Given the description of an element on the screen output the (x, y) to click on. 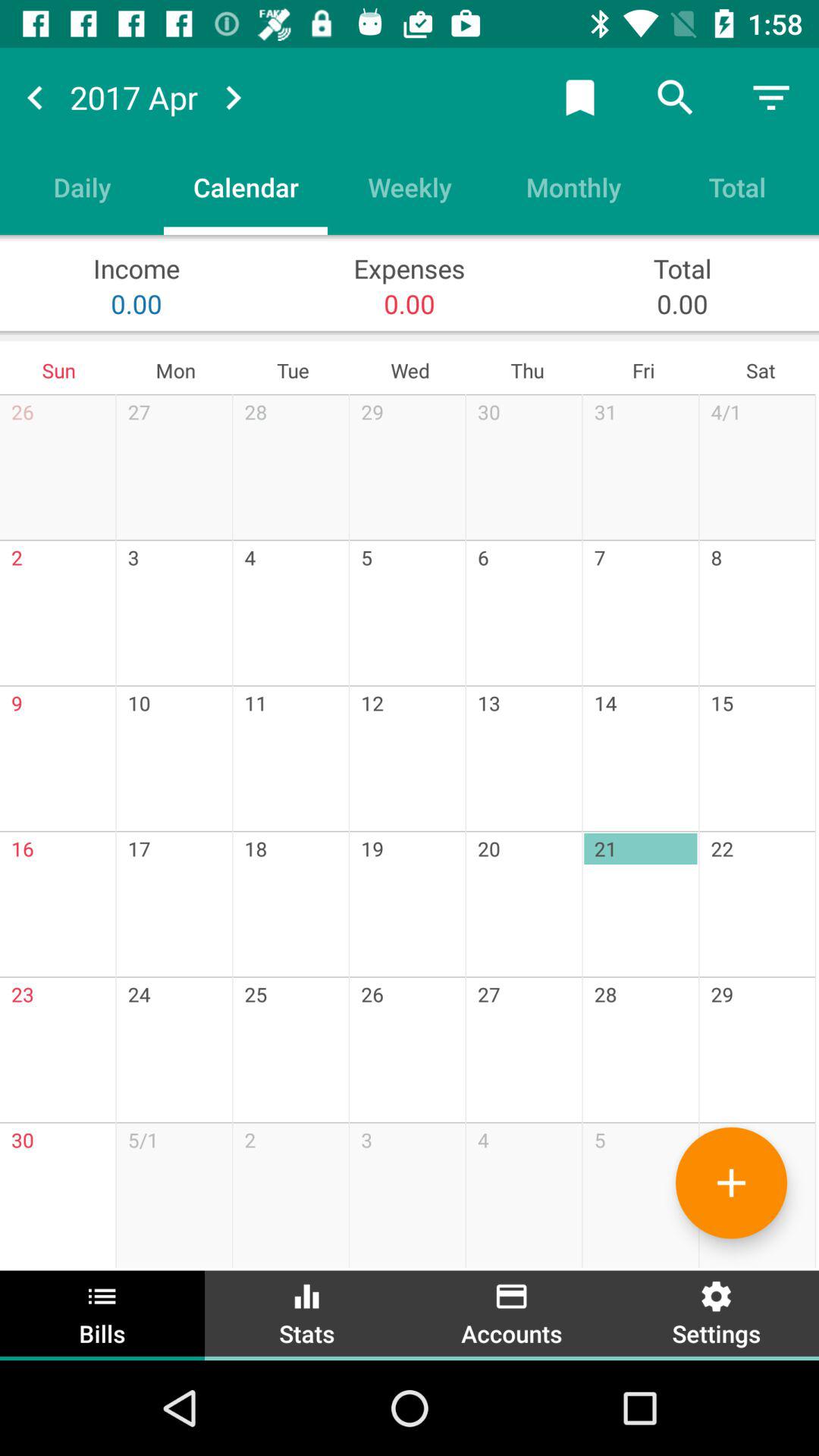
add event (731, 1182)
